Given the description of an element on the screen output the (x, y) to click on. 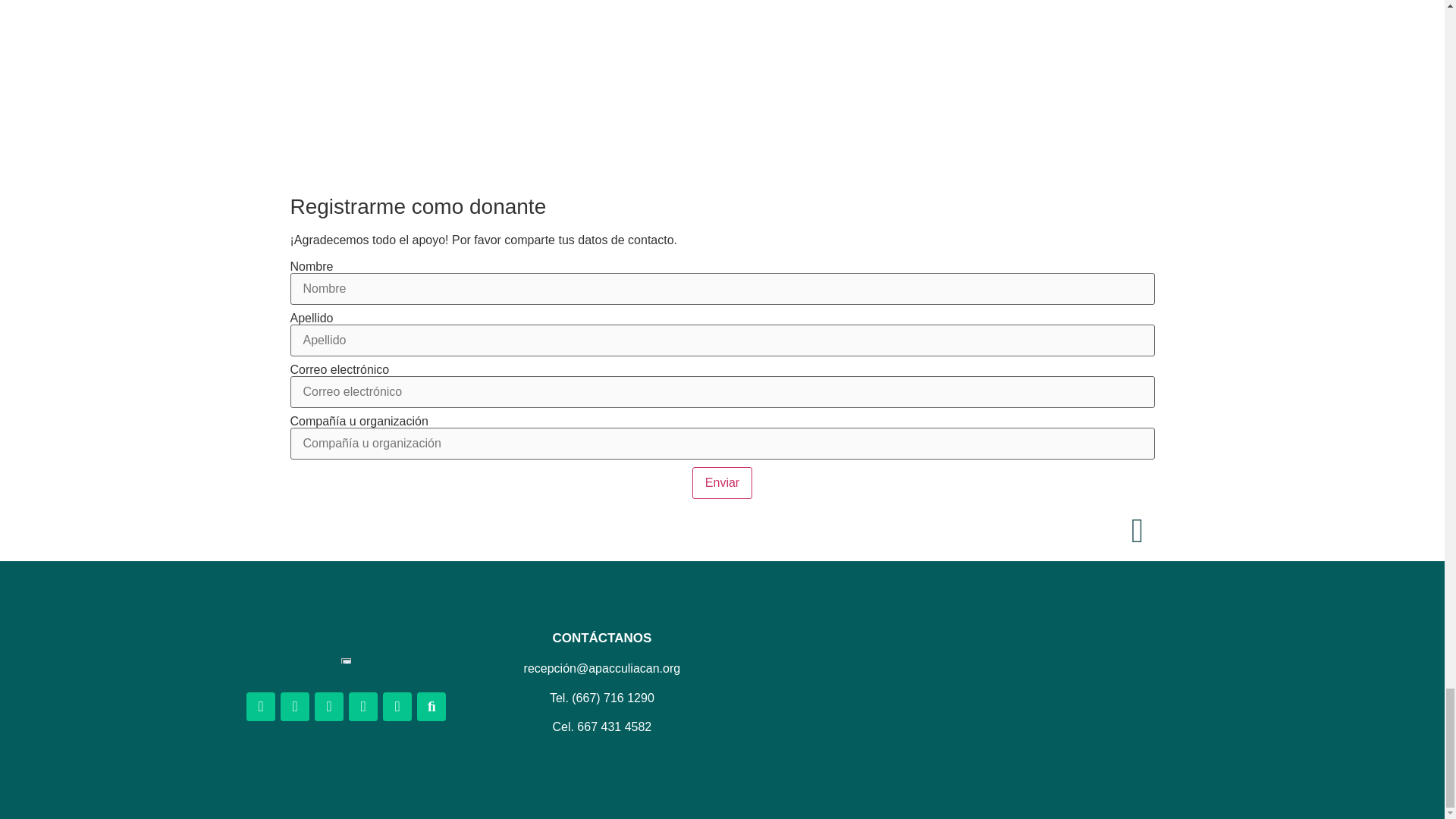
Enviar (722, 482)
